Given the description of an element on the screen output the (x, y) to click on. 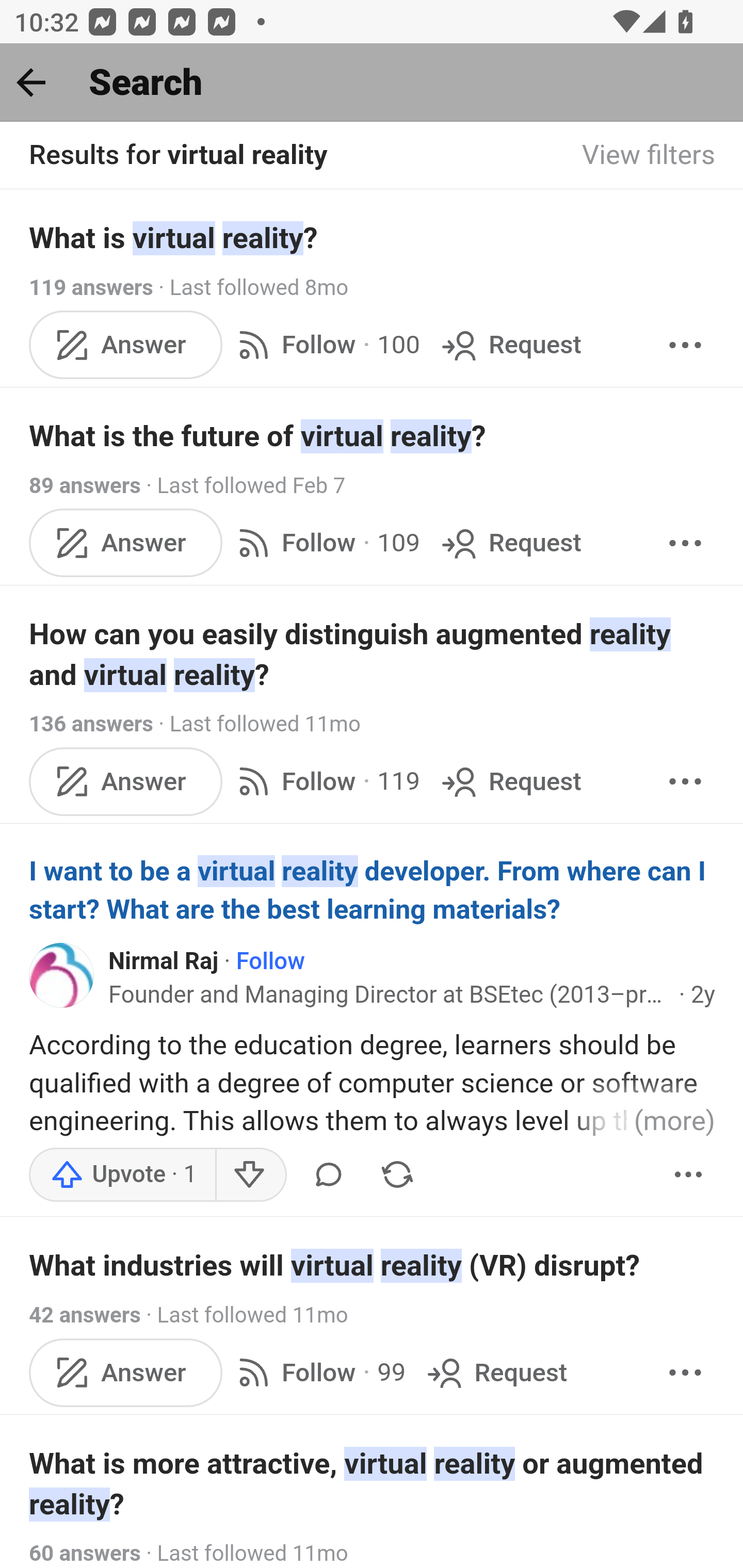
Back Search (371, 82)
Back (30, 82)
View filters (648, 155)
What is virtual reality? (372, 237)
119 answers 119  answers (90, 287)
Answer (125, 343)
Follow · 100 (324, 343)
Request (509, 343)
More (684, 343)
What is the future of virtual reality? (372, 436)
89 answers 89  answers (84, 484)
Answer (125, 543)
Follow · 109 (324, 543)
Request (509, 543)
More (684, 543)
136 answers 136  answers (90, 723)
Answer (125, 781)
Follow · 119 (324, 781)
Request (509, 781)
More (684, 781)
Profile photo for Nirmal Raj (61, 974)
Nirmal Raj (164, 961)
Follow (269, 961)
2y 2 y (702, 995)
Upvote (122, 1174)
Downvote (249, 1174)
Comment (328, 1174)
Share (397, 1174)
More (688, 1174)
What industries will virtual reality (VR) disrupt? (372, 1265)
42 answers 42  answers (84, 1316)
Answer (125, 1371)
Follow · 99 (317, 1371)
Request (495, 1371)
More (684, 1371)
60 answers 60  answers (84, 1554)
